Given the description of an element on the screen output the (x, y) to click on. 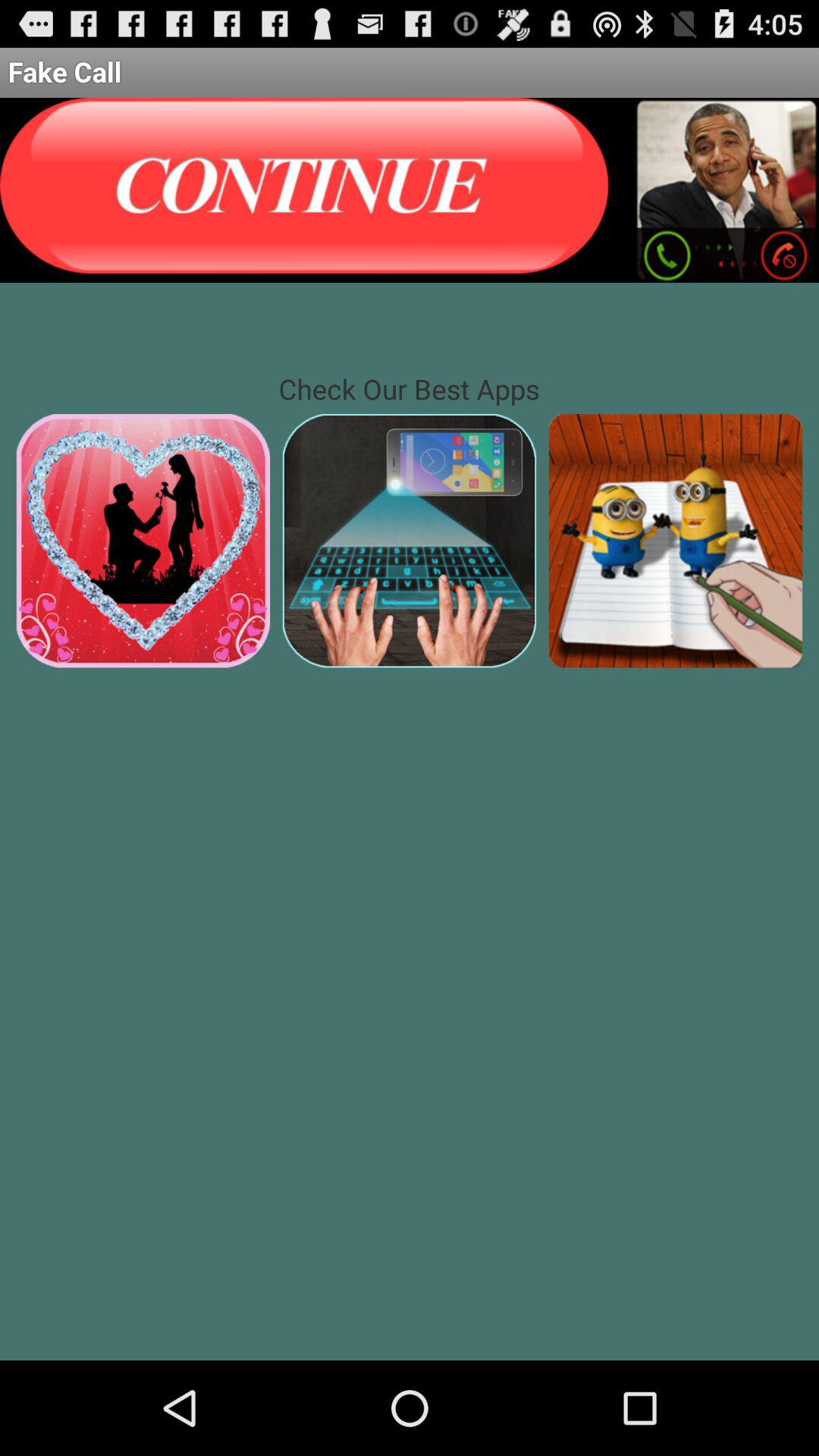
go to previous (307, 189)
